Given the description of an element on the screen output the (x, y) to click on. 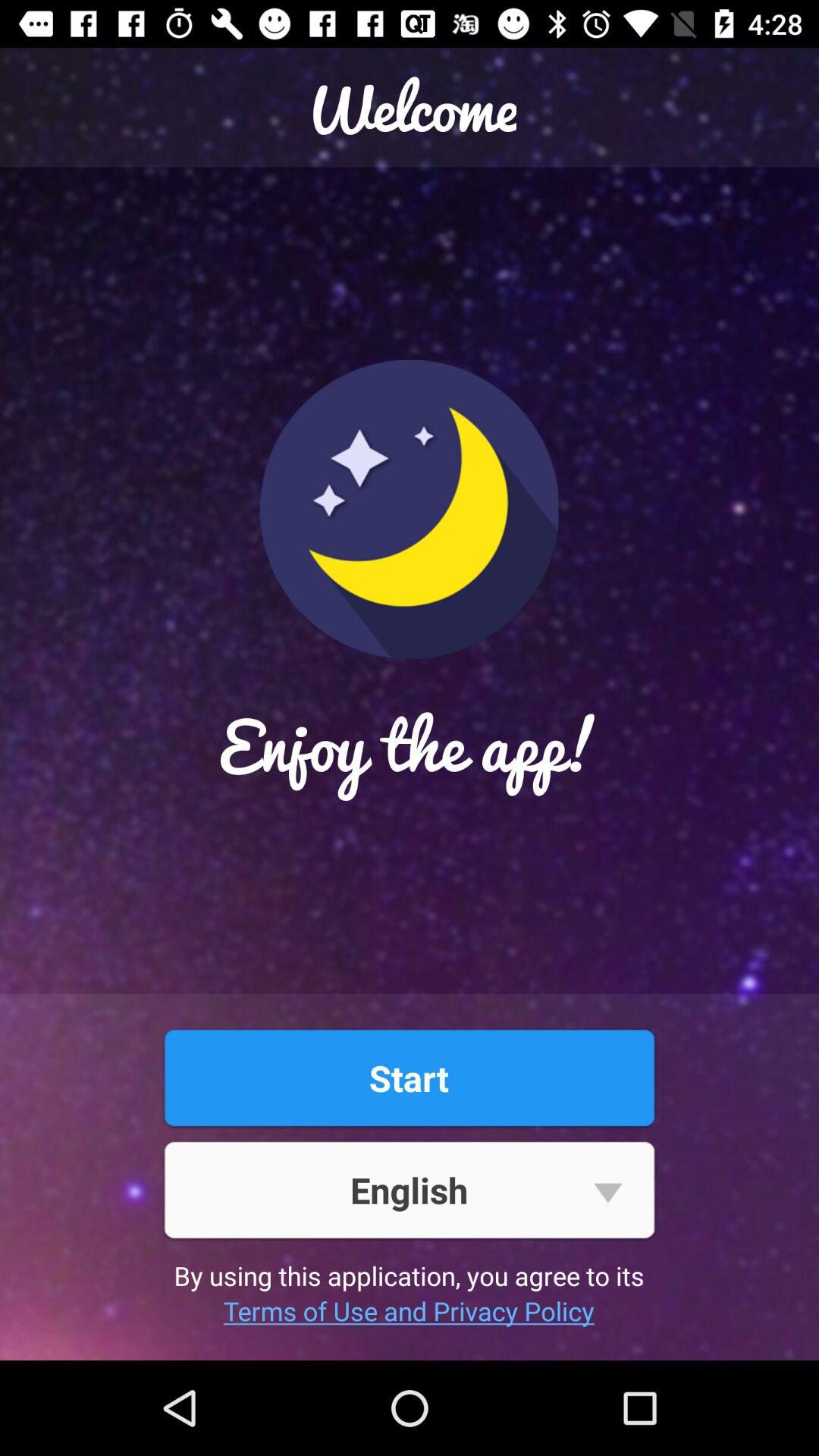
turn off the start icon (409, 1078)
